Given the description of an element on the screen output the (x, y) to click on. 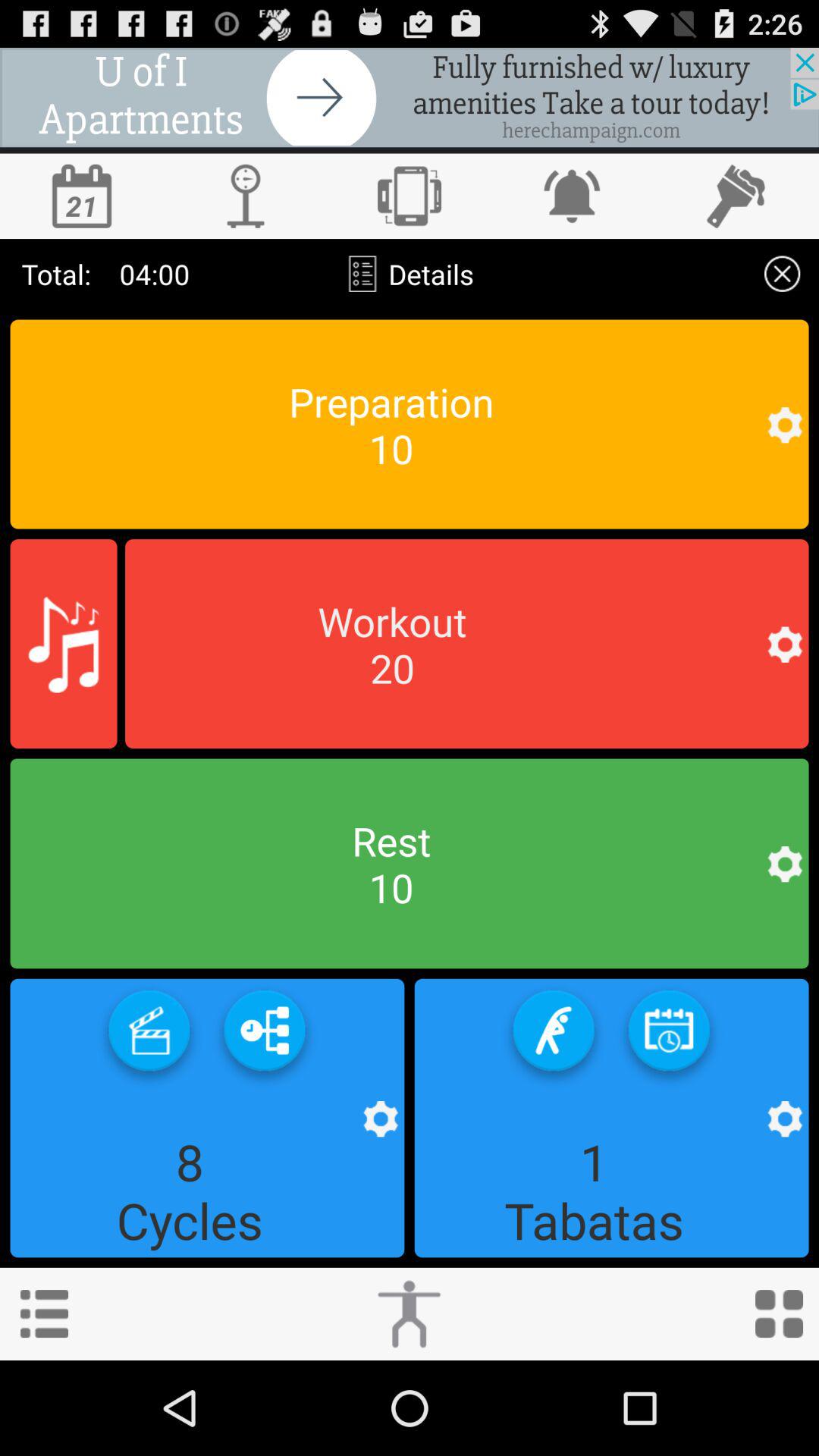
set alert (573, 195)
